Given the description of an element on the screen output the (x, y) to click on. 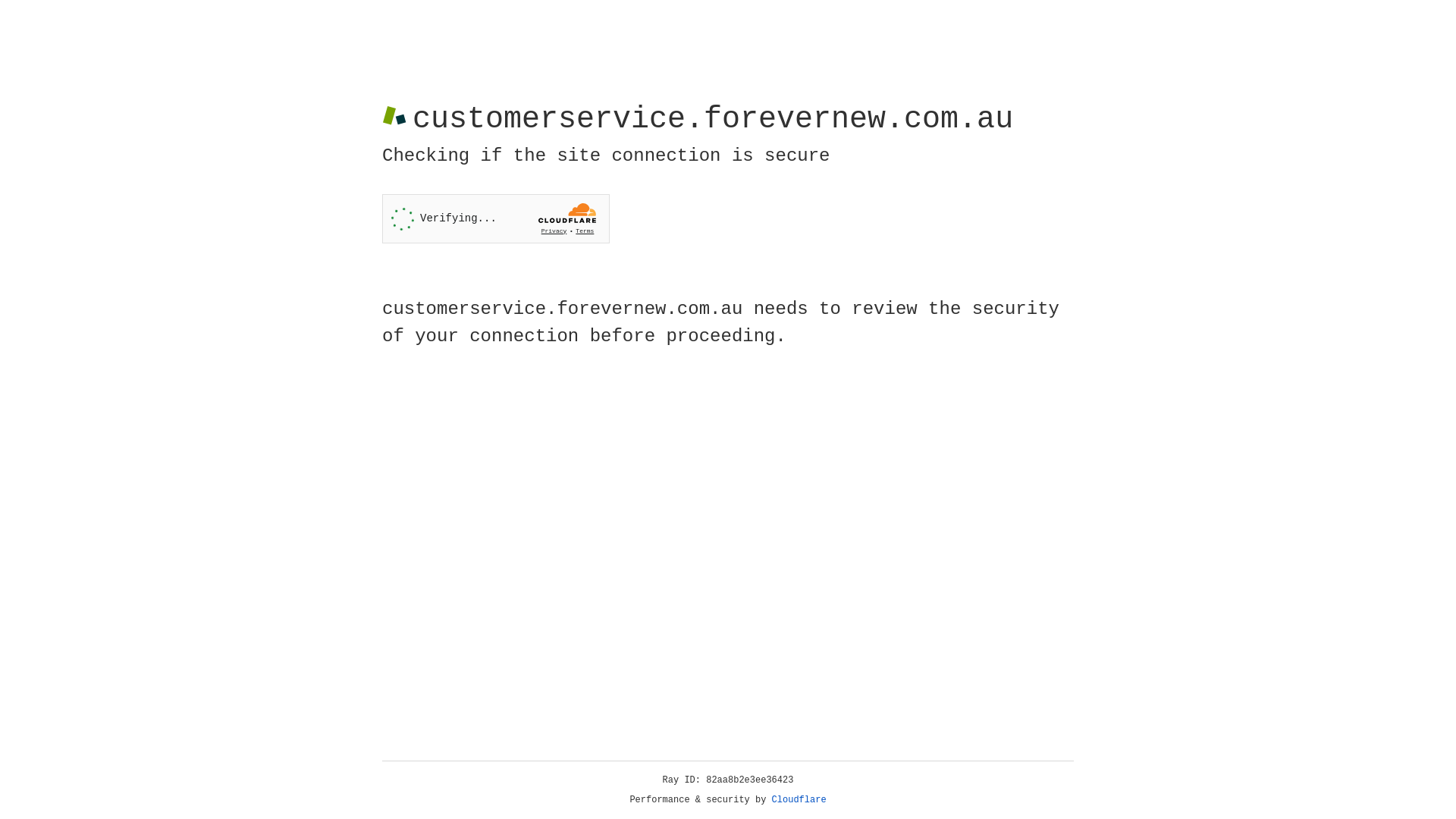
Cloudflare Element type: text (798, 799)
Widget containing a Cloudflare security challenge Element type: hover (495, 218)
